Given the description of an element on the screen output the (x, y) to click on. 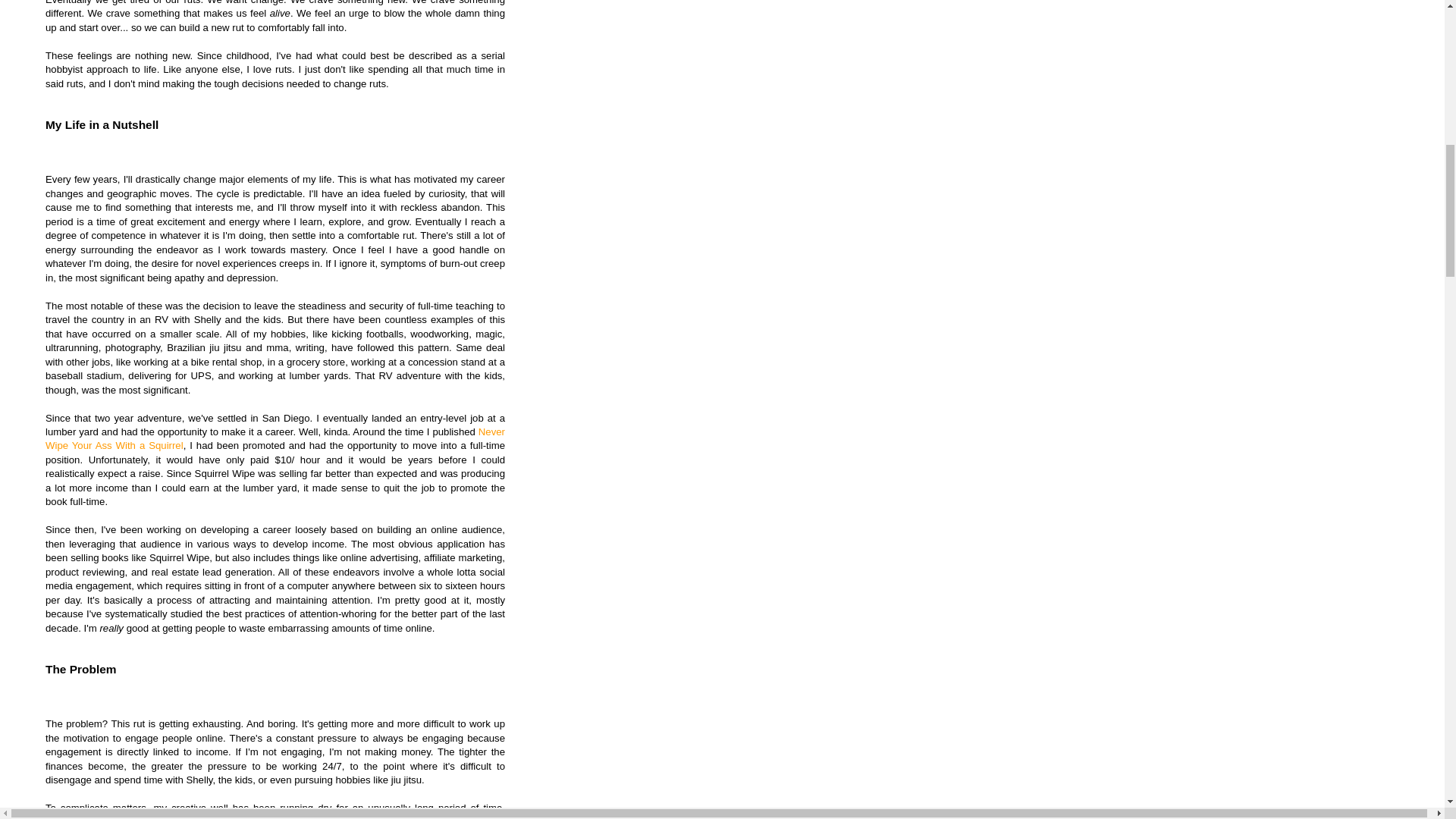
Never Wipe Your Ass With a Squirrel (275, 438)
